Given the description of an element on the screen output the (x, y) to click on. 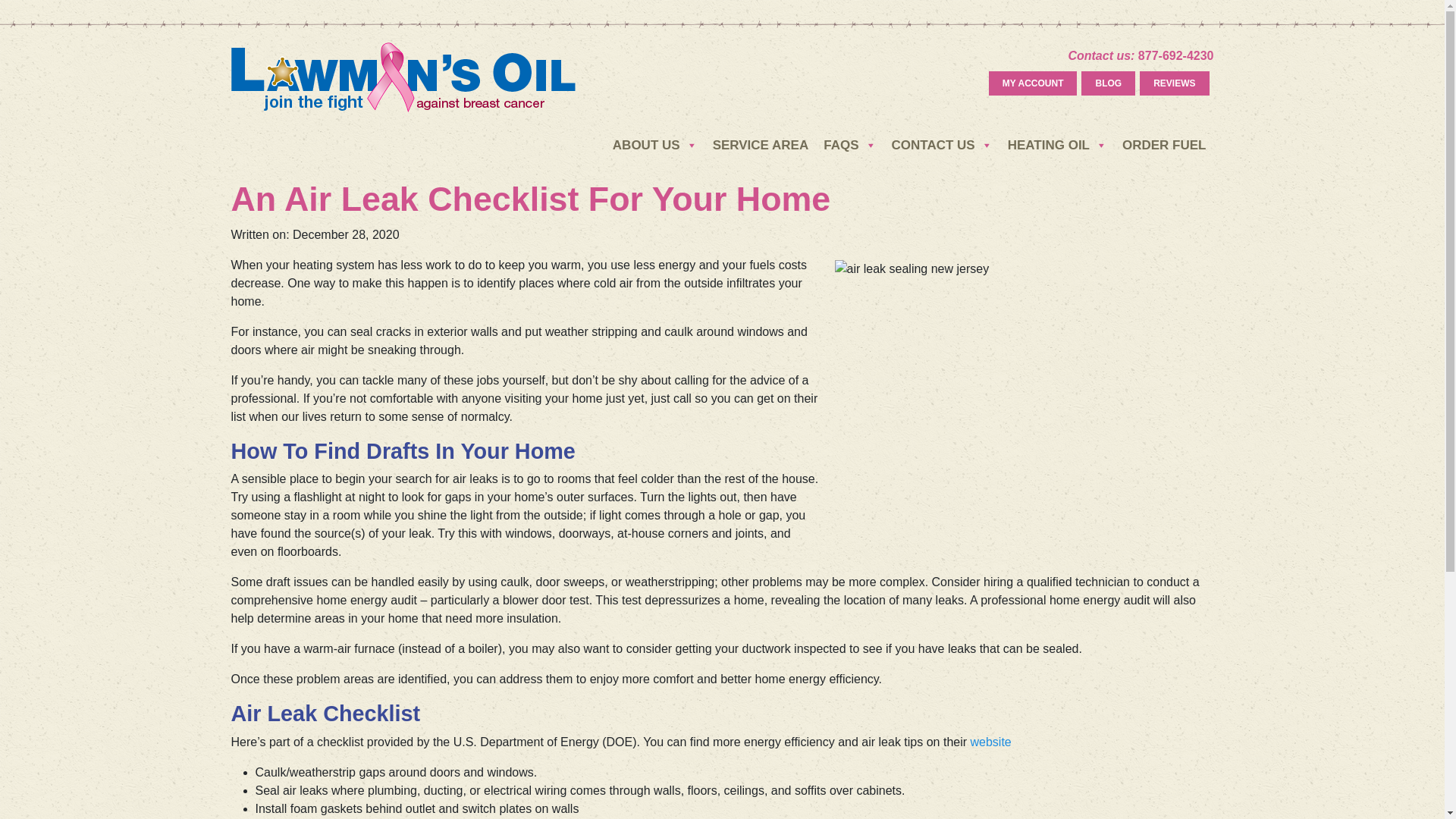
ABOUT US (654, 145)
FAQS (849, 145)
MY ACCOUNT (1033, 82)
home (402, 75)
CONTACT US (941, 145)
REVIEWS (1174, 82)
SERVICE AREA (760, 145)
website (991, 741)
HEATING OIL (1057, 145)
BLOG (1107, 82)
